Given the description of an element on the screen output the (x, y) to click on. 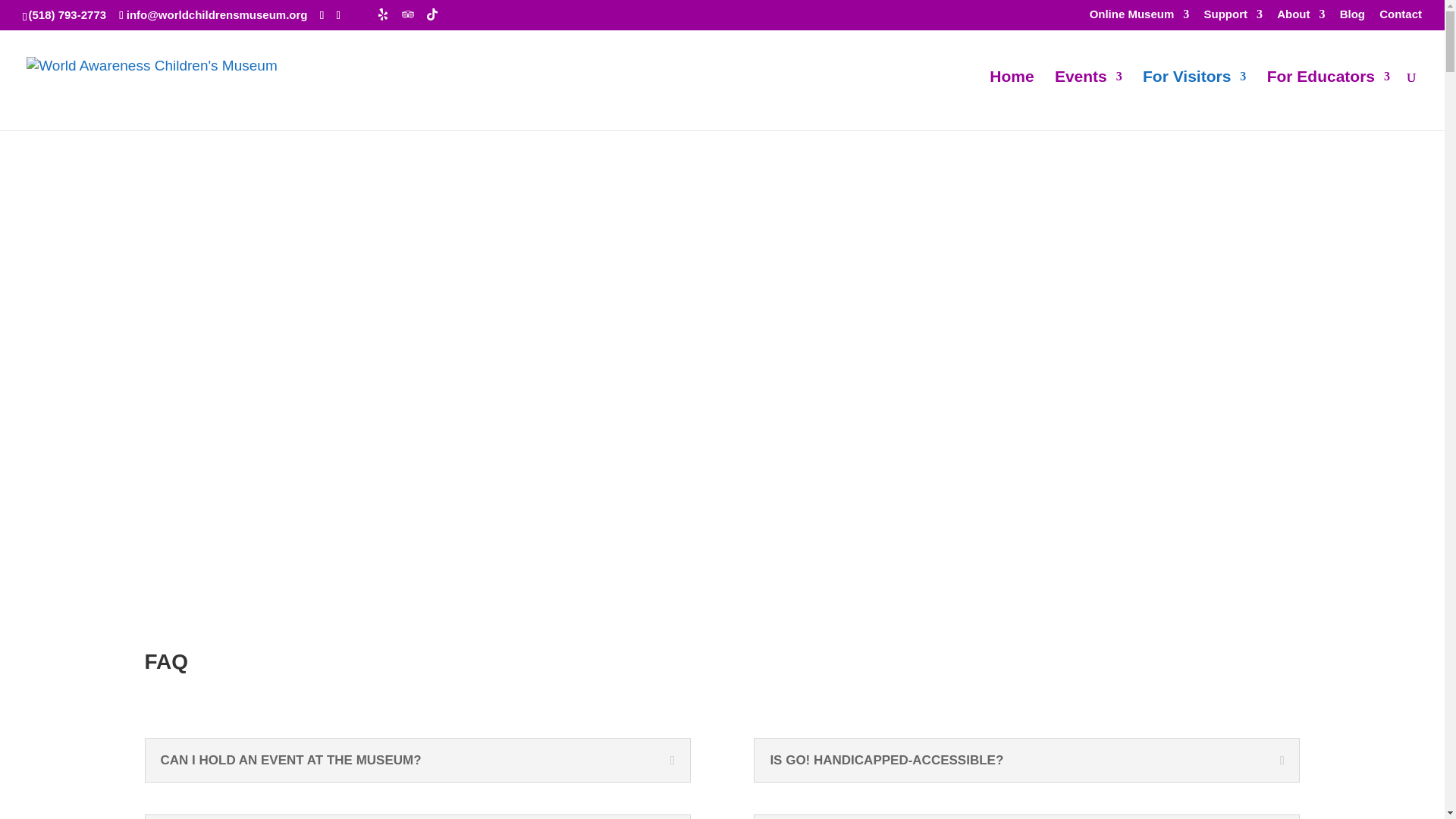
Events (1088, 100)
About (1300, 17)
Contact (1400, 17)
Online Museum (1139, 17)
Blog (1352, 17)
Support (1233, 17)
